Given the description of an element on the screen output the (x, y) to click on. 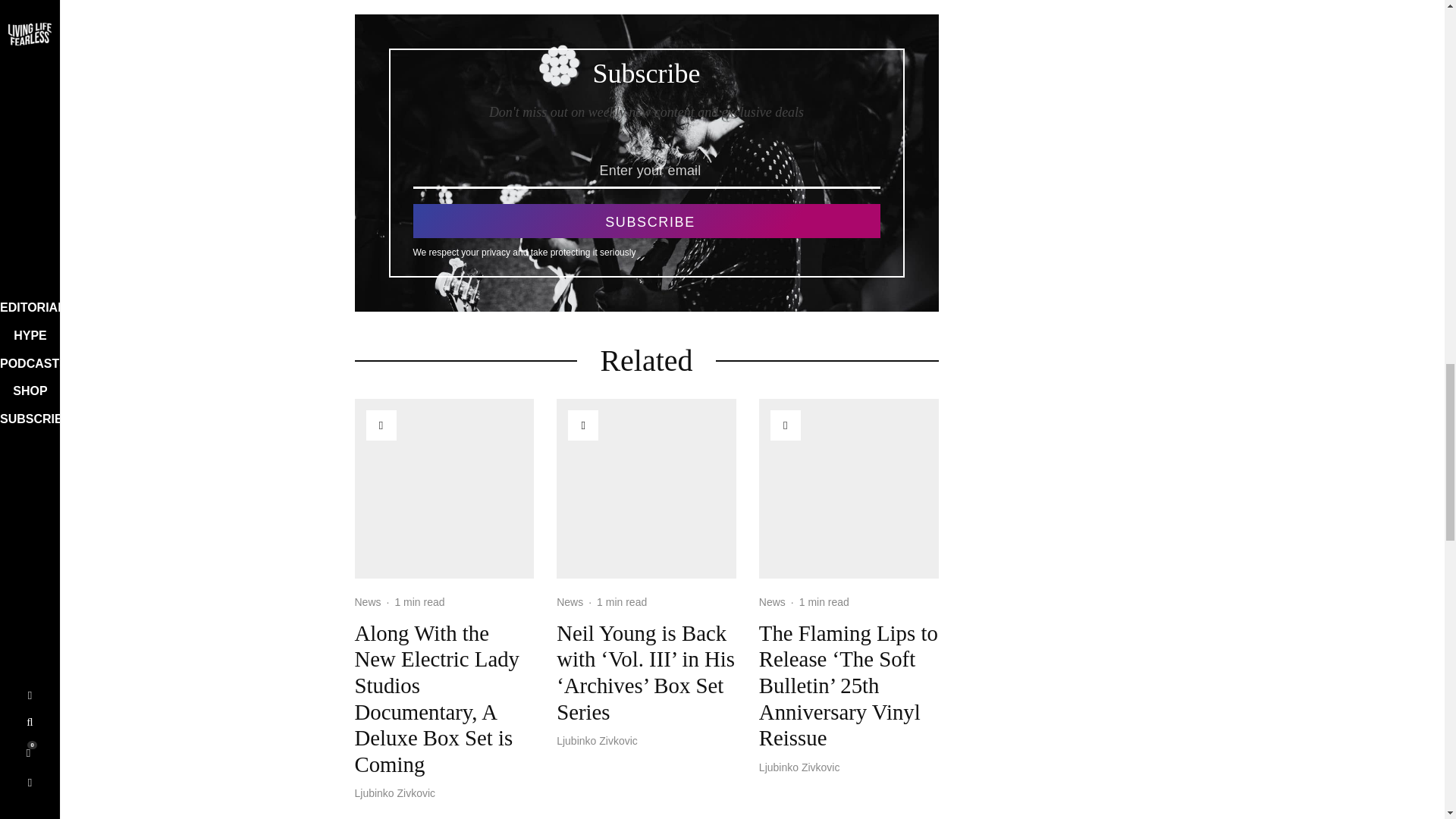
Subscribe (645, 220)
